Given the description of an element on the screen output the (x, y) to click on. 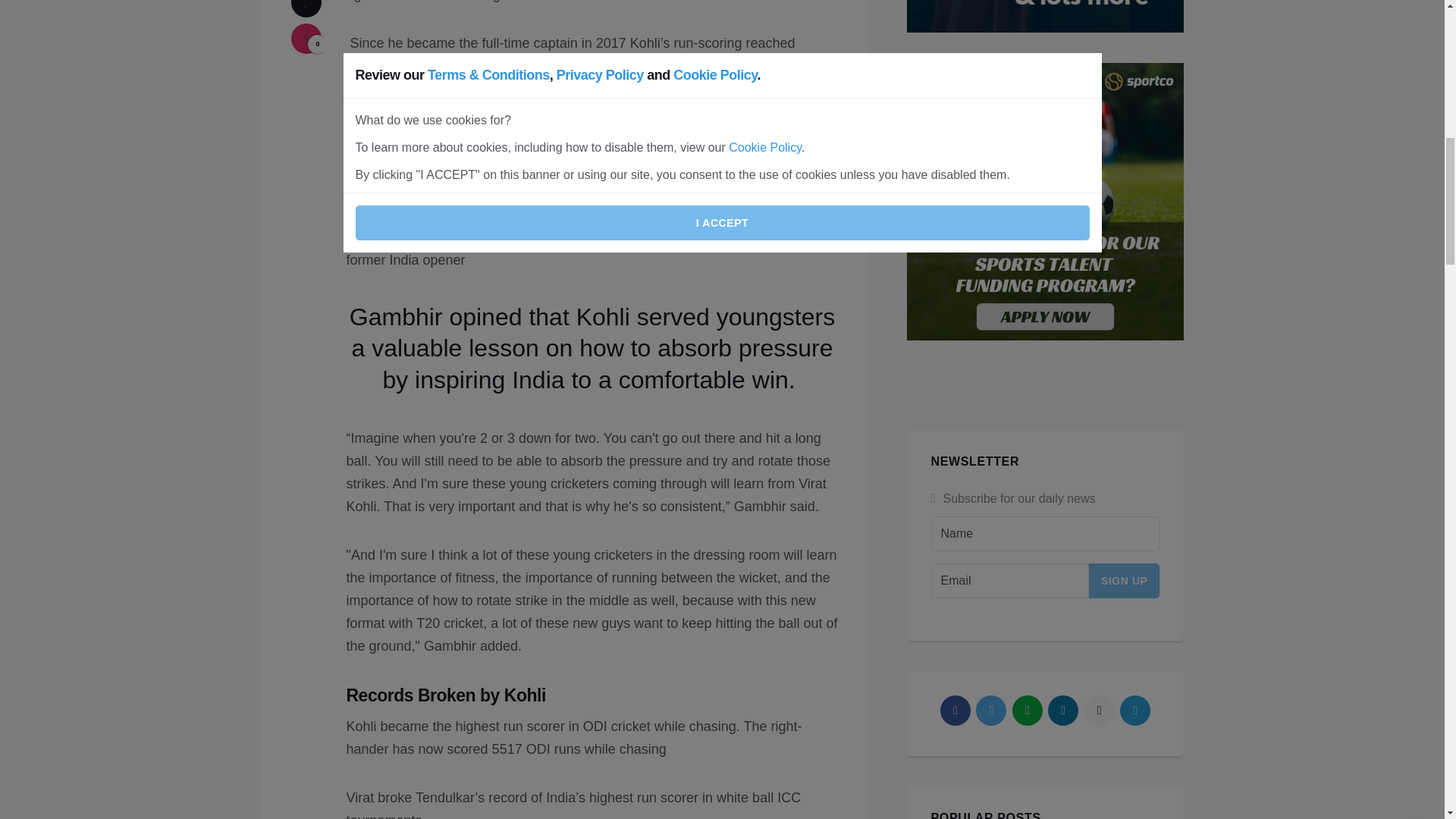
Favorite (306, 8)
Sign Up (1124, 580)
Like (306, 38)
